Given the description of an element on the screen output the (x, y) to click on. 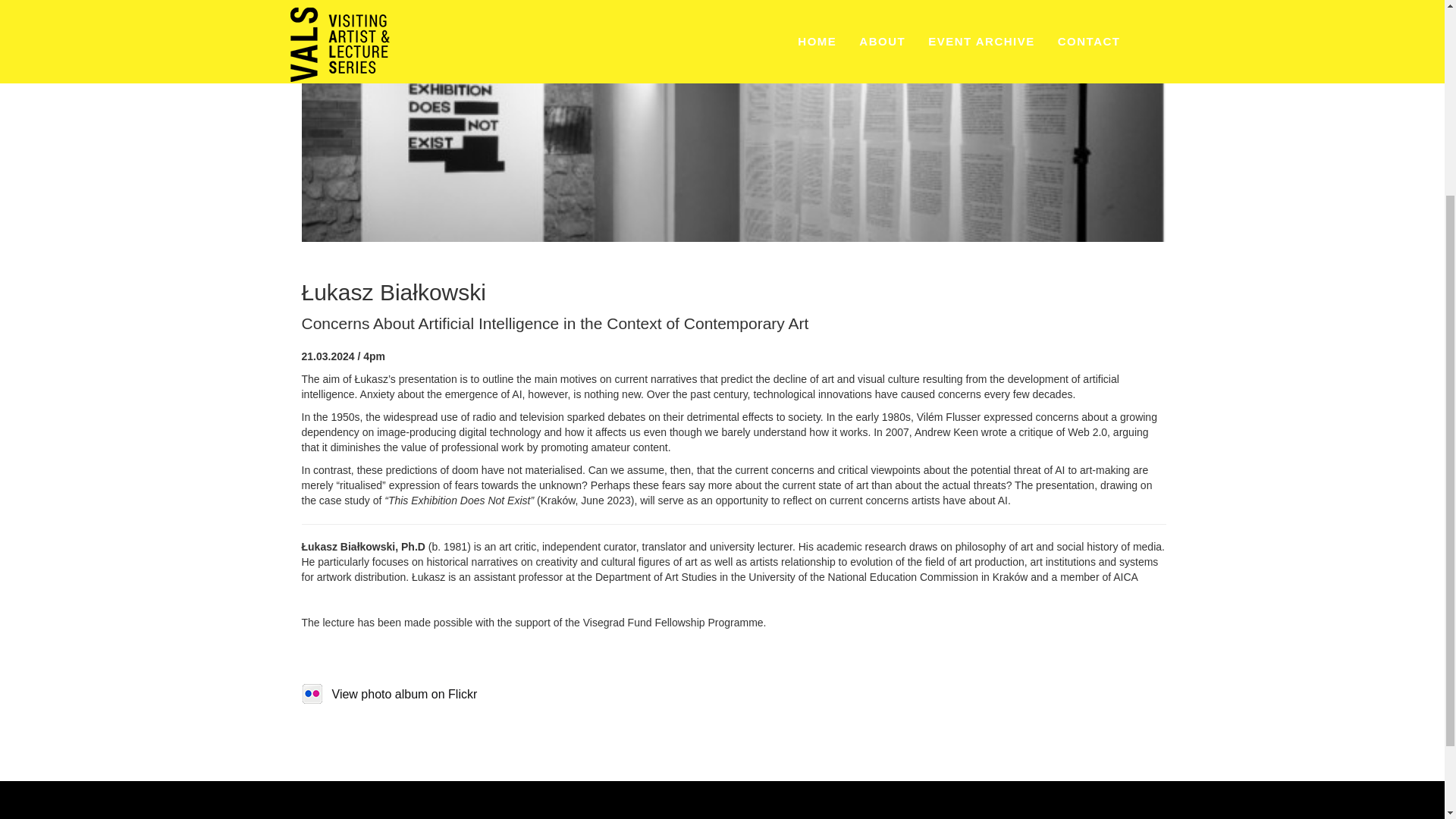
View photo album on Flickr (389, 694)
